Given the description of an element on the screen output the (x, y) to click on. 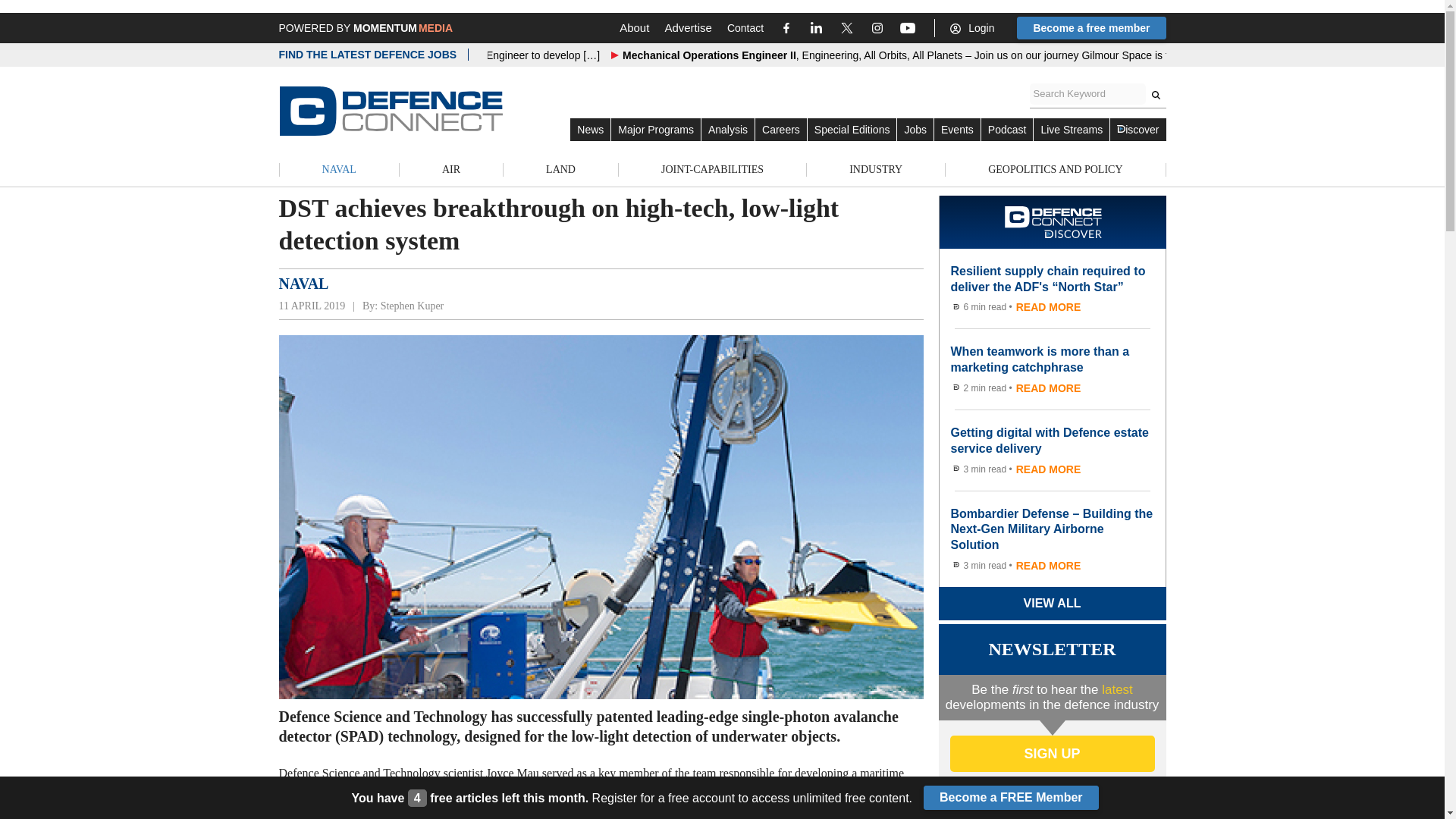
Become a FREE Member (1011, 797)
Become a FREE Member (1011, 797)
sign up (1051, 753)
Become a free member (1091, 27)
